Given the description of an element on the screen output the (x, y) to click on. 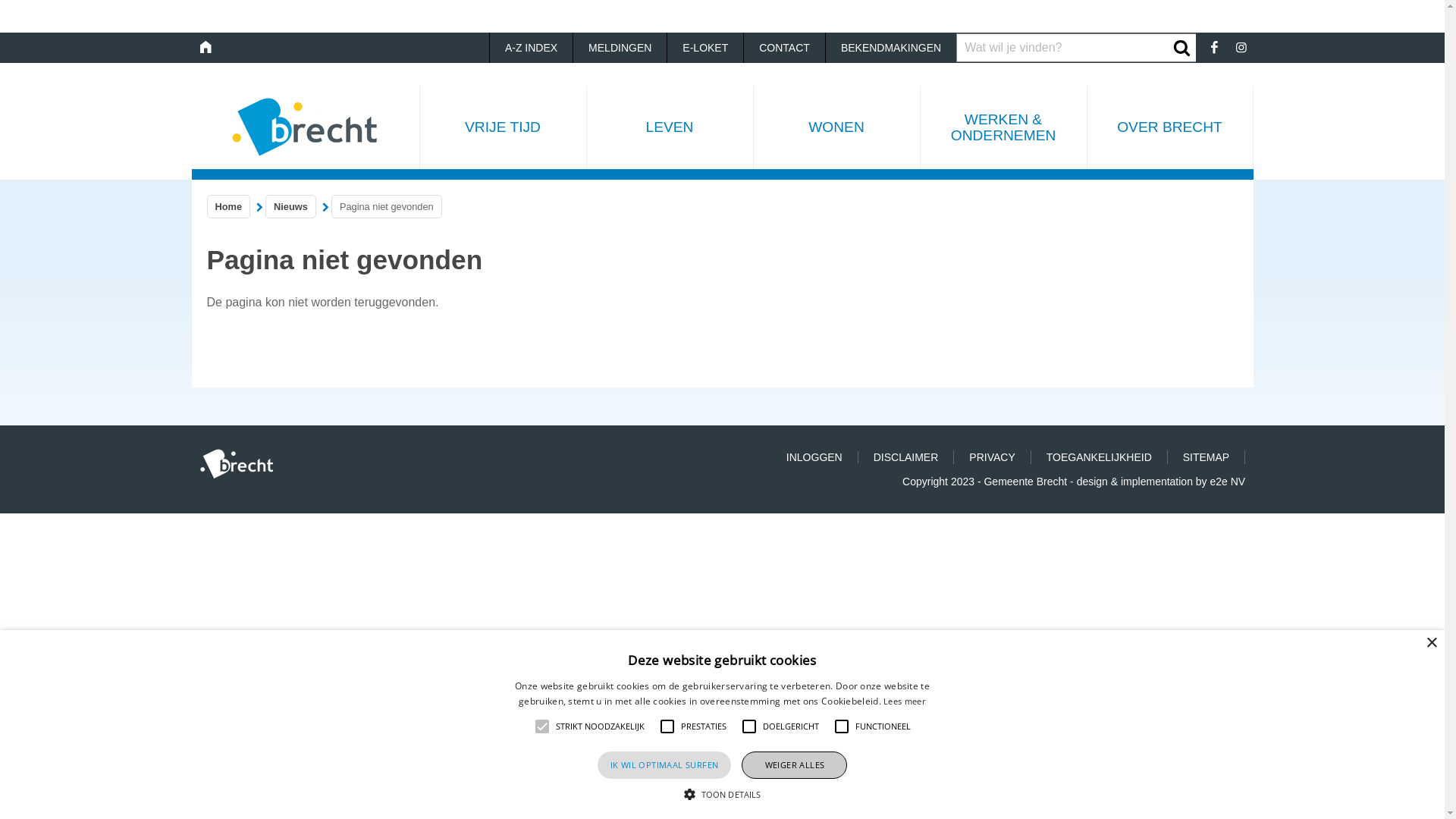
INLOGGEN Element type: text (814, 457)
Zoeken Element type: text (1181, 47)
TOEGANKELIJKHEID Element type: text (1099, 457)
WONEN Element type: text (835, 127)
WERKEN & ONDERNEMEN Element type: text (1002, 127)
SITEMAP Element type: text (1206, 457)
E-LOKET Element type: text (704, 47)
CONTACT Element type: text (784, 47)
A-Z INDEX Element type: text (530, 47)
PRIVACY Element type: text (991, 457)
OVER BRECHT Element type: text (1168, 127)
VRIJE TIJD Element type: text (501, 127)
e2e NV Element type: text (1227, 481)
Lees meer Element type: text (904, 700)
Nieuws Element type: text (290, 206)
BEKENDMAKINGEN Element type: text (890, 47)
MELDINGEN Element type: text (619, 47)
LEVEN Element type: text (668, 127)
DISCLAIMER Element type: text (906, 457)
Home Element type: text (228, 206)
